Given the description of an element on the screen output the (x, y) to click on. 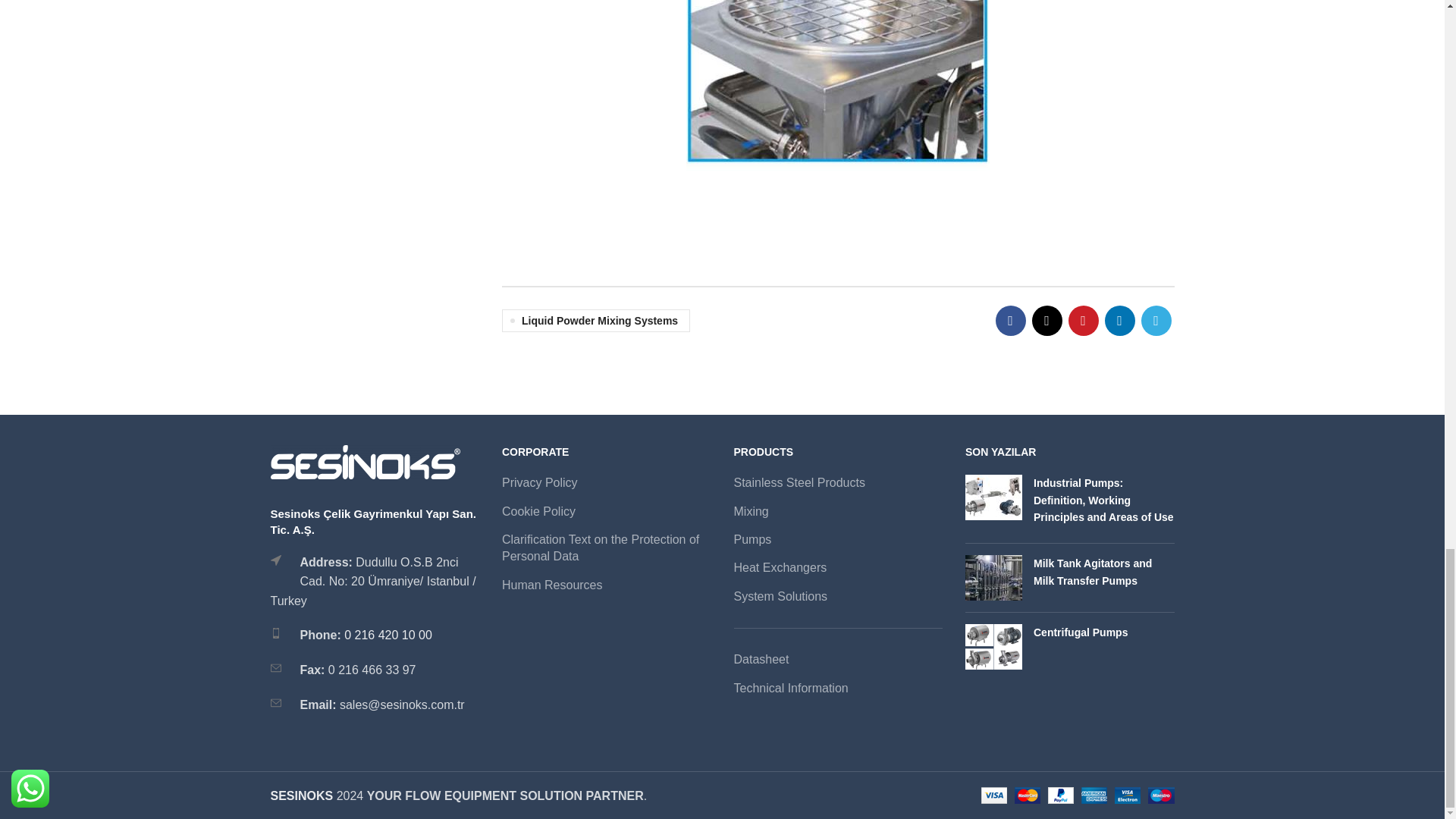
sesinoks-4logo-beyaz (364, 462)
wd-cursor-dark (275, 560)
wd-envelope-dark (275, 667)
Using Blender 5 (837, 85)
Permalink to Milk Tank Agitators and Milk Transfer Pumps (1092, 571)
wd-phone-dark (275, 633)
Permalink to Centrifugal Pumps (1079, 632)
wd-envelope-dark (275, 702)
